Given the description of an element on the screen output the (x, y) to click on. 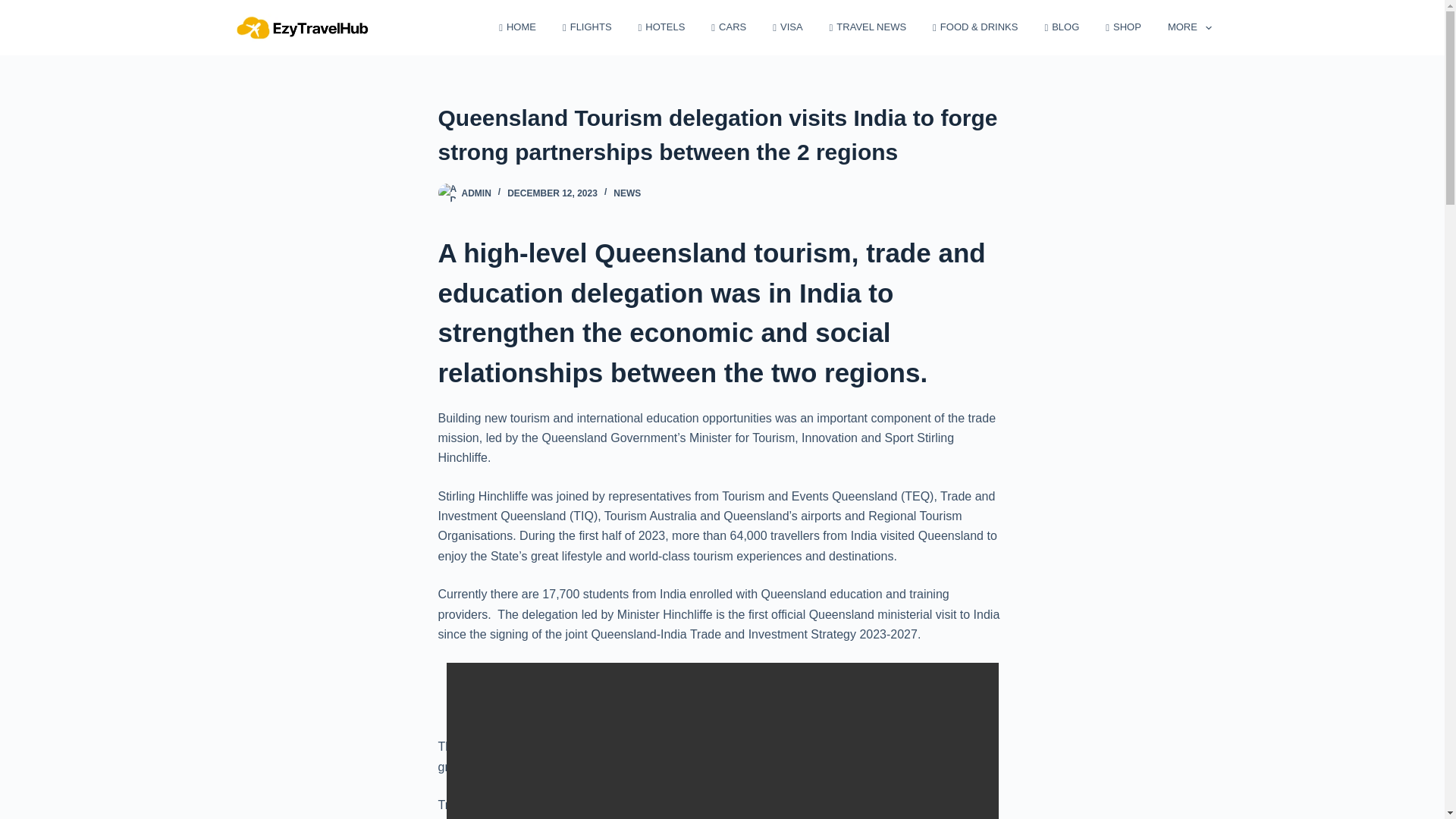
VISA (787, 27)
MORE (1182, 27)
FLIGHTS (586, 27)
Posts by admin (475, 193)
HOTELS (661, 27)
Skip to content (15, 7)
SHOP (1123, 27)
HOME (518, 27)
CARS (729, 27)
BLOG (1061, 27)
TRAVEL NEWS (867, 27)
